Given the description of an element on the screen output the (x, y) to click on. 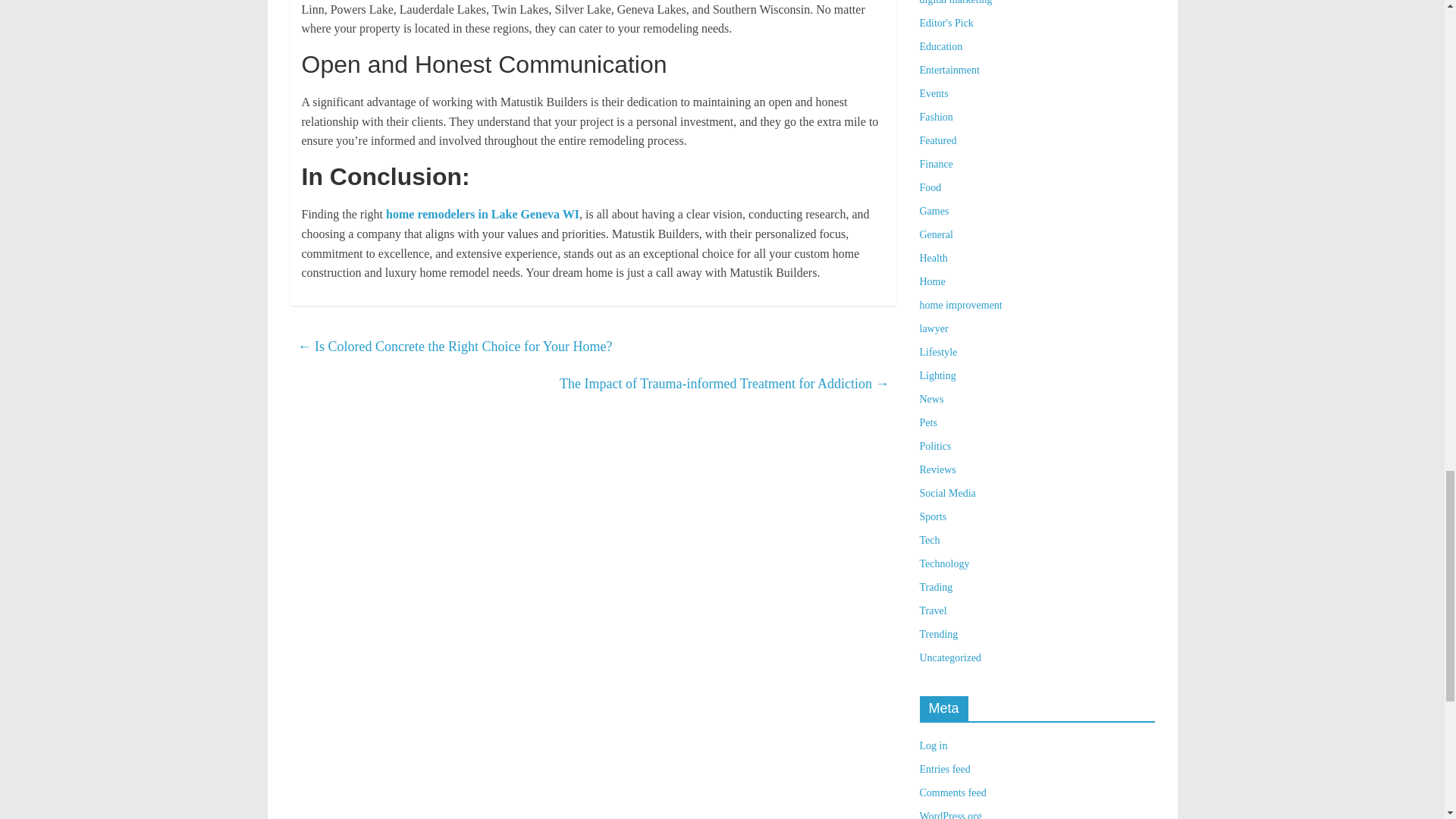
home remodelers in Lake Geneva WI (482, 214)
